Given the description of an element on the screen output the (x, y) to click on. 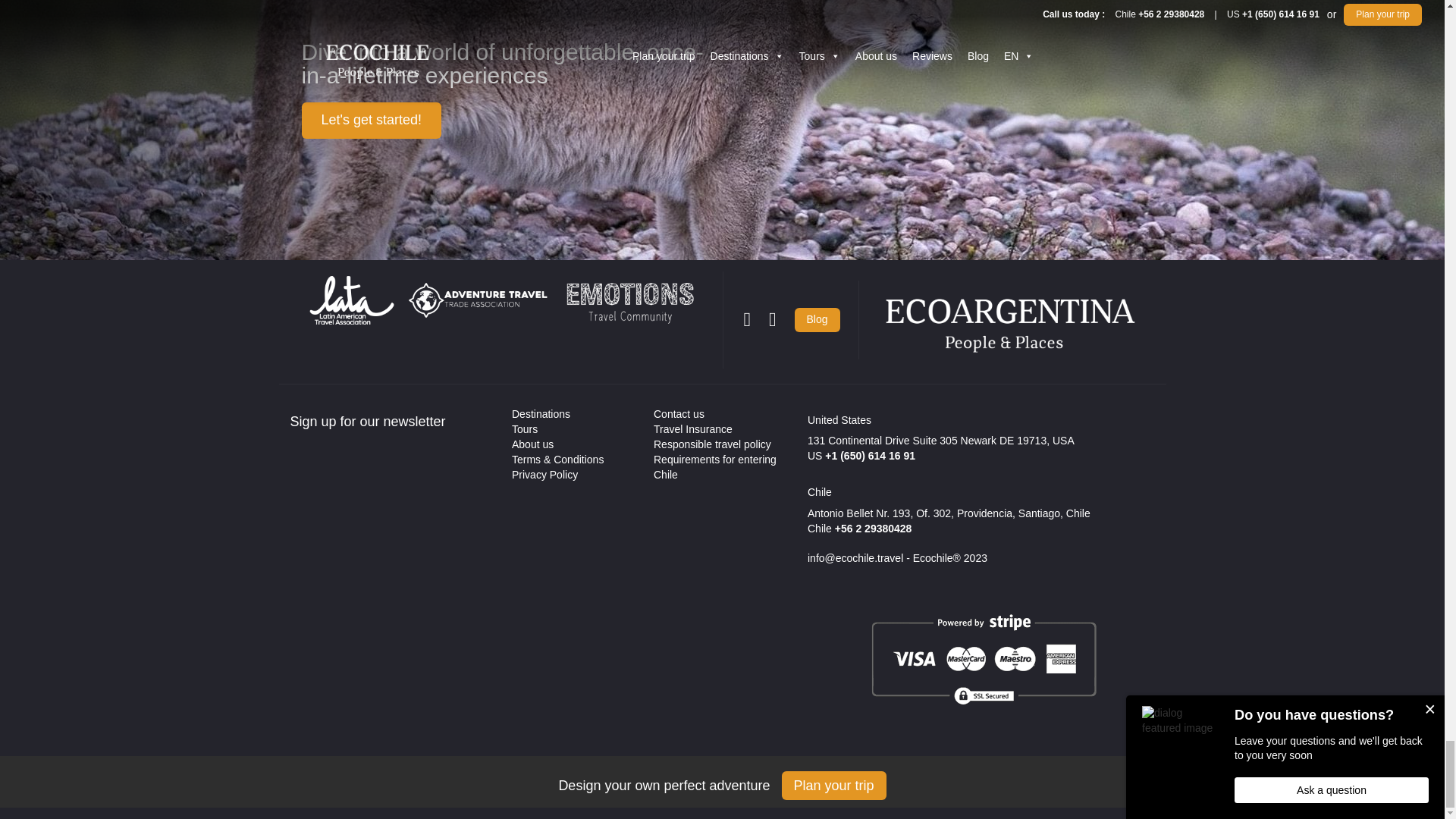
Blog (817, 319)
Destinations (541, 413)
Form 0 (389, 557)
Tours (524, 428)
Let's get started! (371, 120)
